Given the description of an element on the screen output the (x, y) to click on. 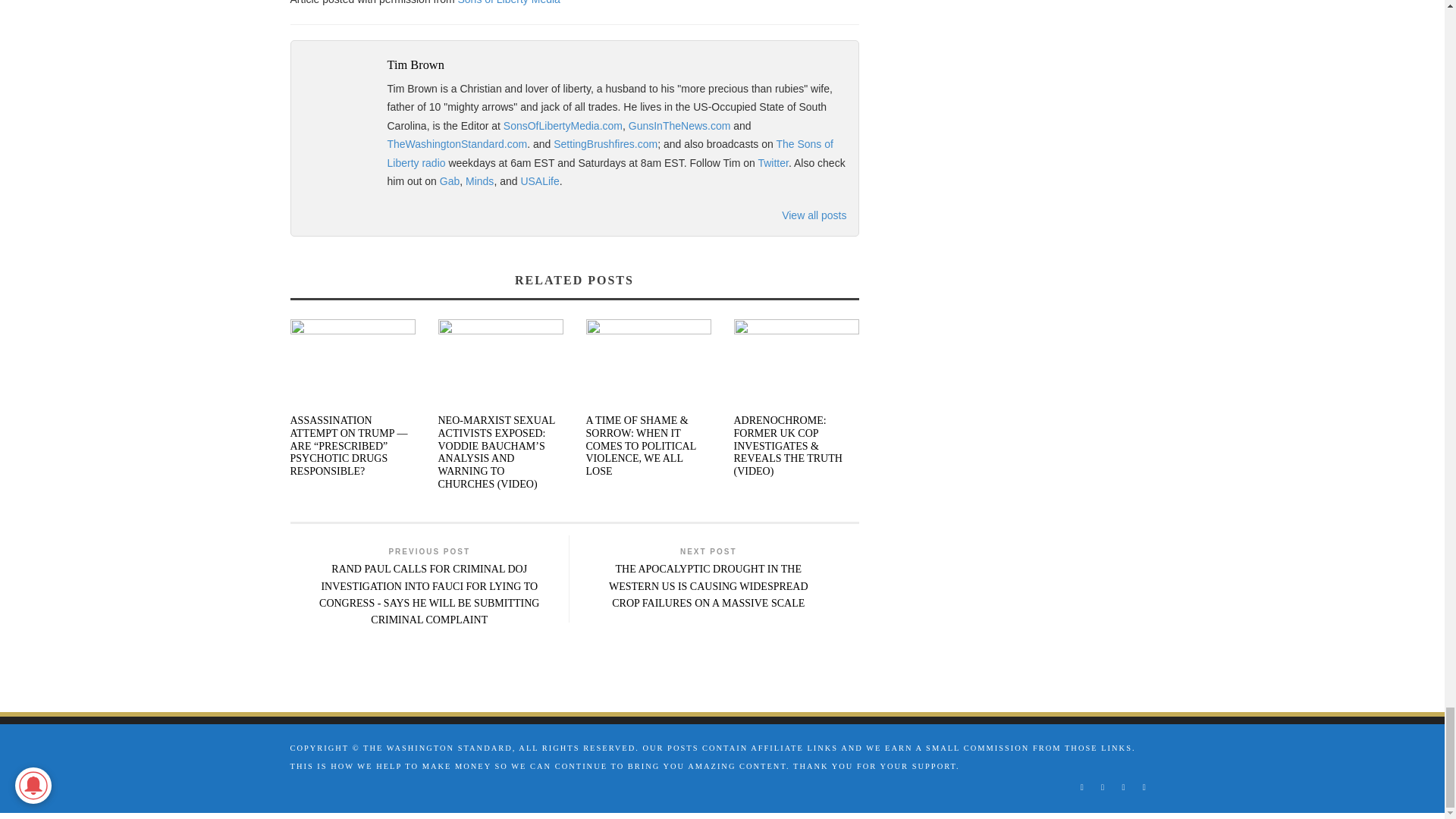
Facebook (1081, 787)
Twitter (1123, 787)
Youtube (1144, 787)
RSS (1102, 787)
